Given the description of an element on the screen output the (x, y) to click on. 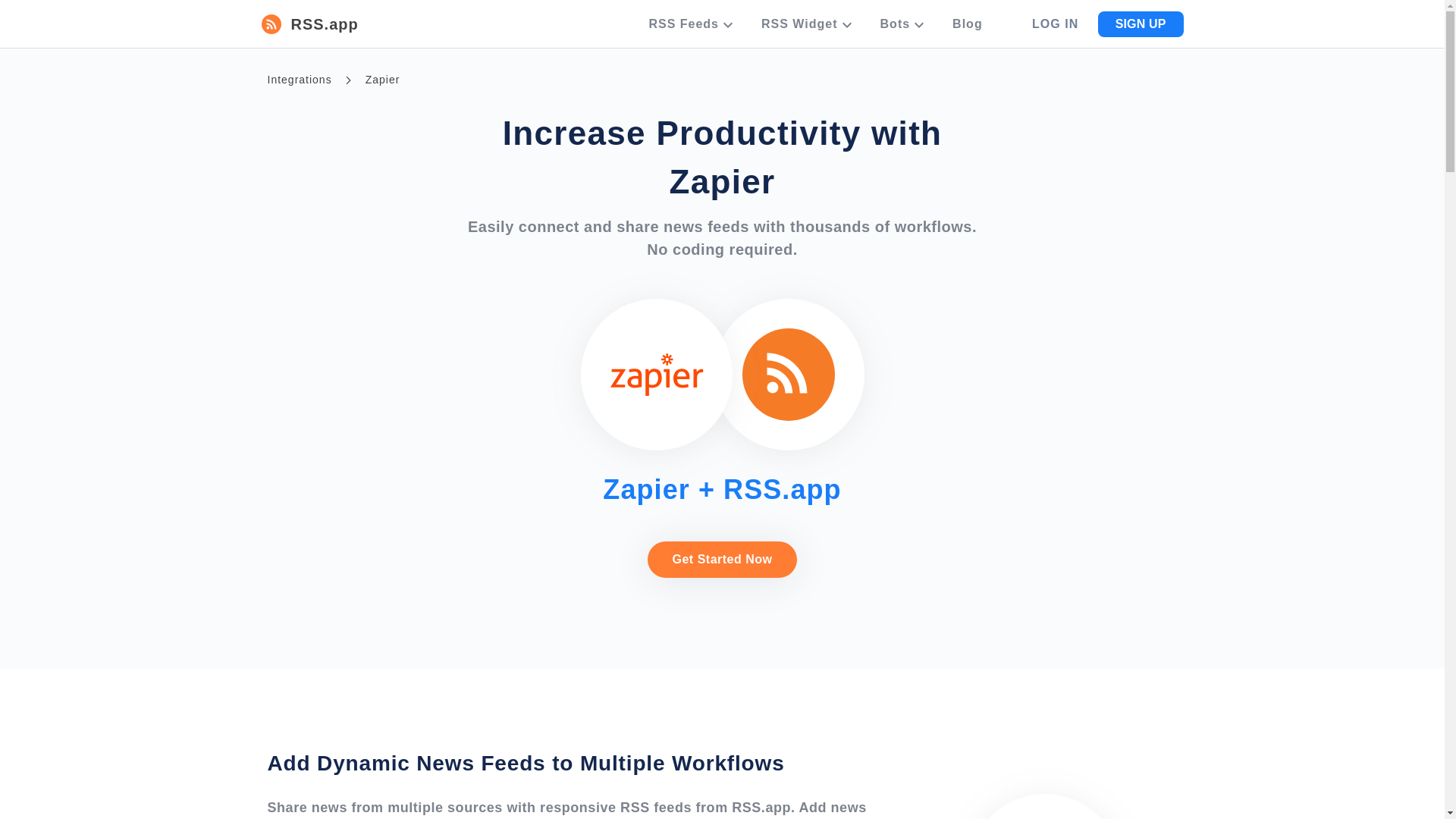
Bots (904, 29)
RSS Widget (808, 29)
RSS Feeds (691, 29)
RSS.app (309, 24)
